Given the description of an element on the screen output the (x, y) to click on. 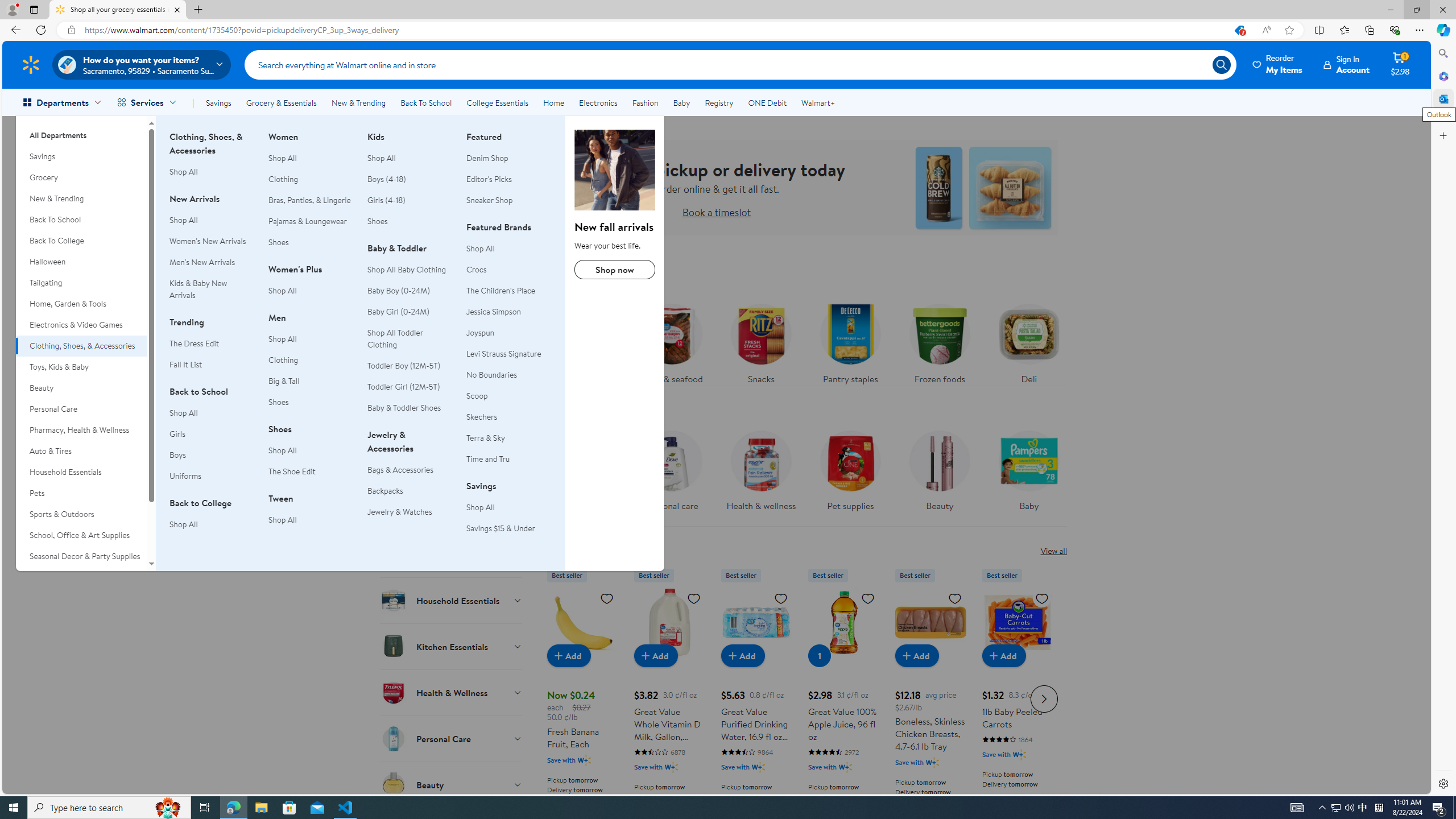
Pharmacy, Health & Wellness (81, 429)
Women's PlusShop All (310, 286)
School, Office & Art Supplies (81, 535)
Sign in to add to Favorites list, 1lb Baby Peeled Carrots (1041, 597)
Alcohol (451, 507)
Shop All Baby Clothing (406, 269)
Deli (1028, 340)
Fashion (644, 102)
Fresh produce (582, 340)
